Given the description of an element on the screen output the (x, y) to click on. 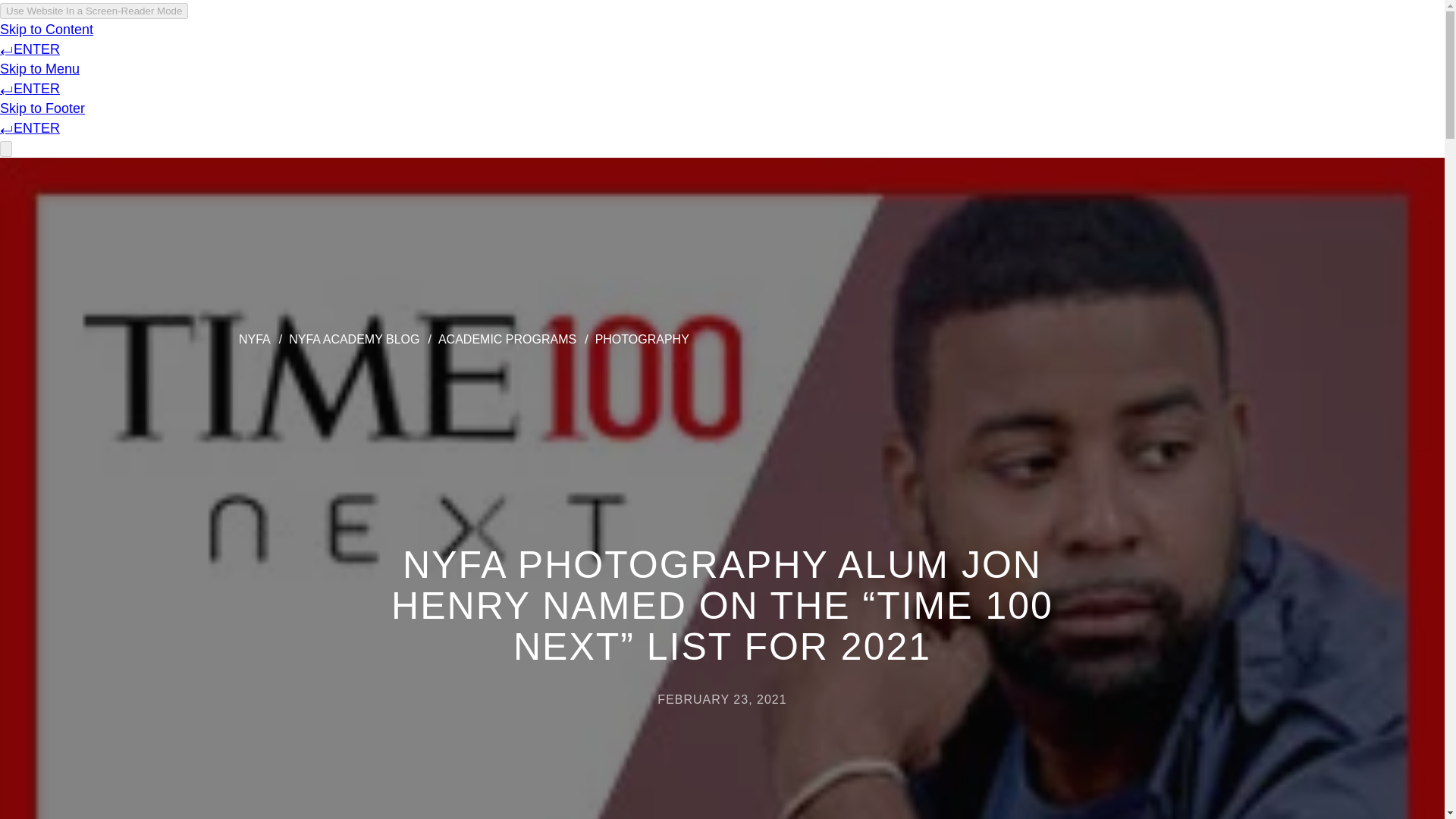
Go to the Academic Programs Category archives. (507, 338)
Go to NYFA. (254, 338)
Go to the Photography Category archives. (641, 338)
Go to NYFA Academy Blog. (353, 338)
